Given the description of an element on the screen output the (x, y) to click on. 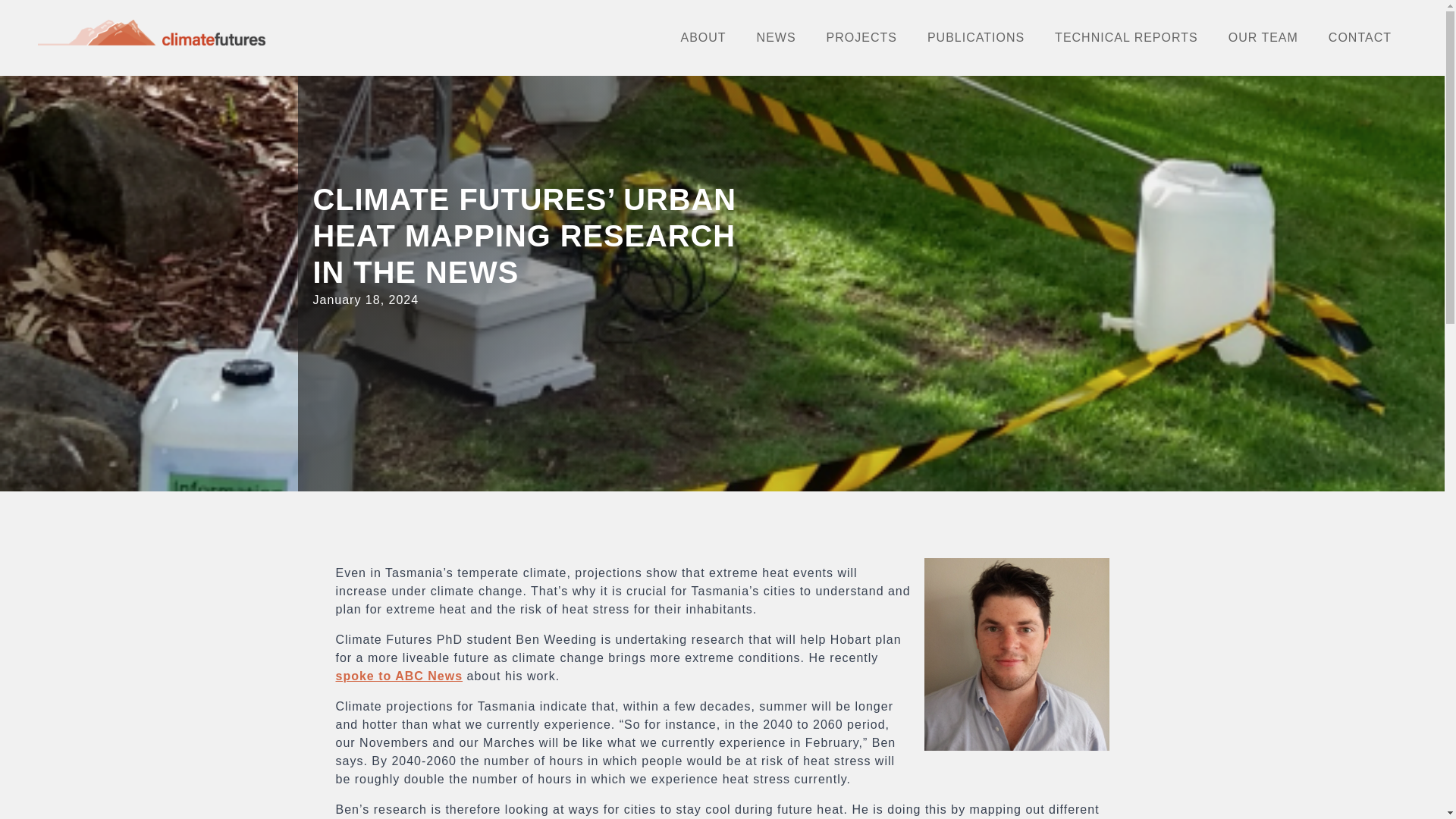
TECHNICAL REPORTS (1125, 37)
PUBLICATIONS (975, 37)
NEWS (775, 37)
ABOUT (703, 37)
OUR TEAM (1262, 37)
spoke to ABC News (398, 675)
PROJECTS (861, 37)
CONTACT (1359, 37)
